Given the description of an element on the screen output the (x, y) to click on. 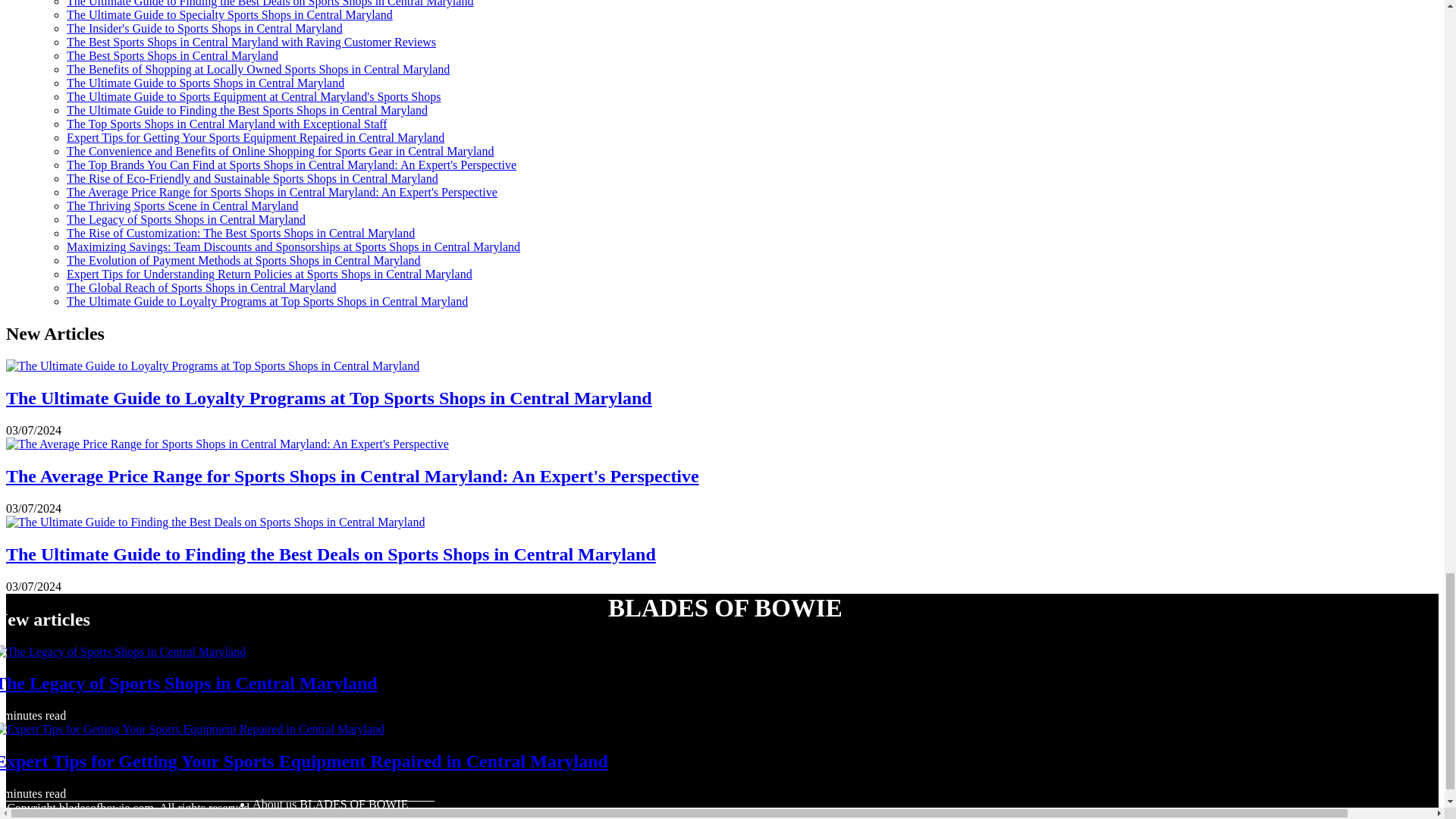
The Ultimate Guide to Sports Shops in Central Maryland (204, 82)
The Insider's Guide to Sports Shops in Central Maryland (204, 28)
The Best Sports Shops in Central Maryland (172, 55)
